Given the description of an element on the screen output the (x, y) to click on. 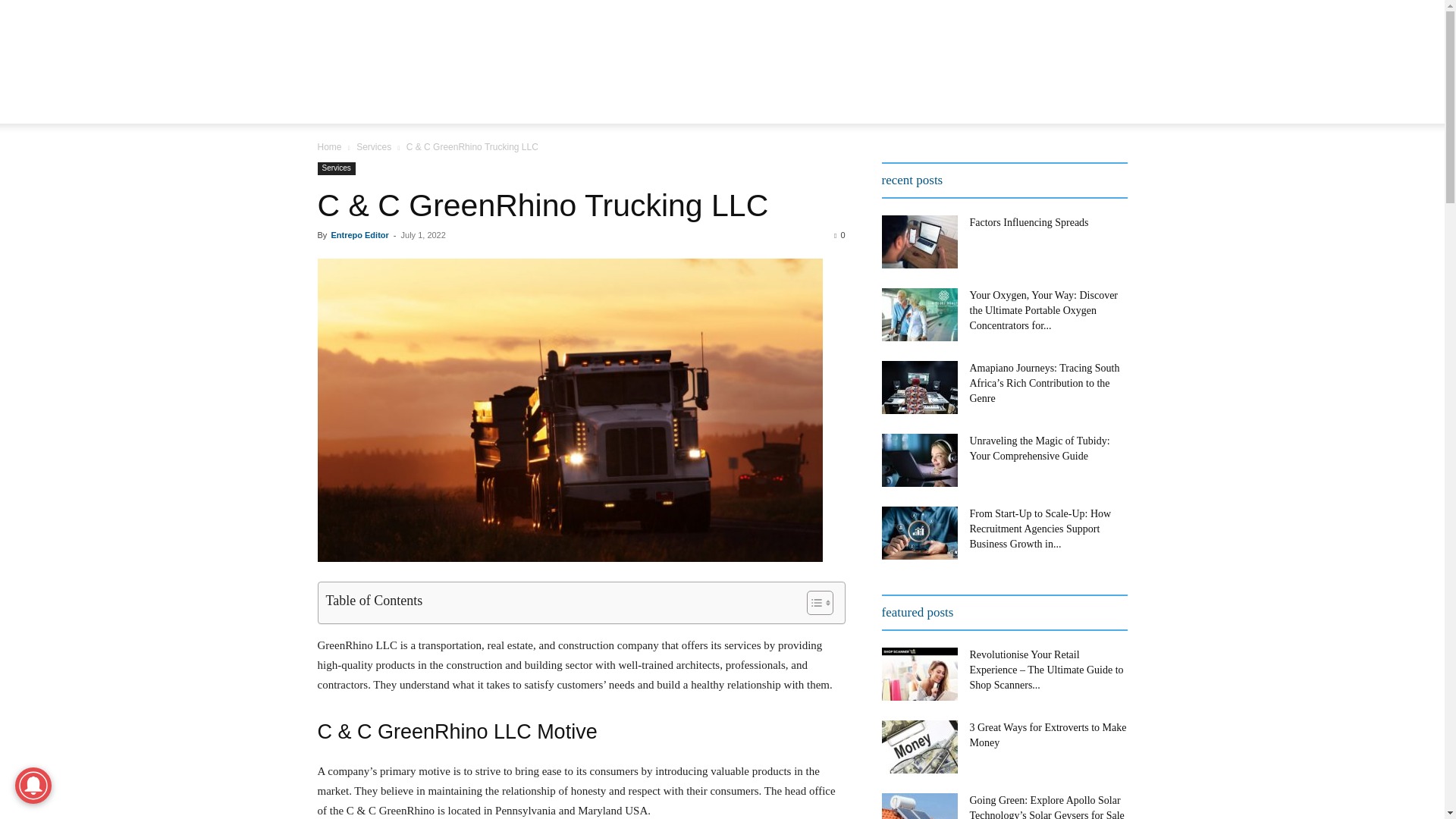
Entrepo (445, 55)
Get Affordable Web Design and Hosting (850, 55)
featured (355, 109)
